Given the description of an element on the screen output the (x, y) to click on. 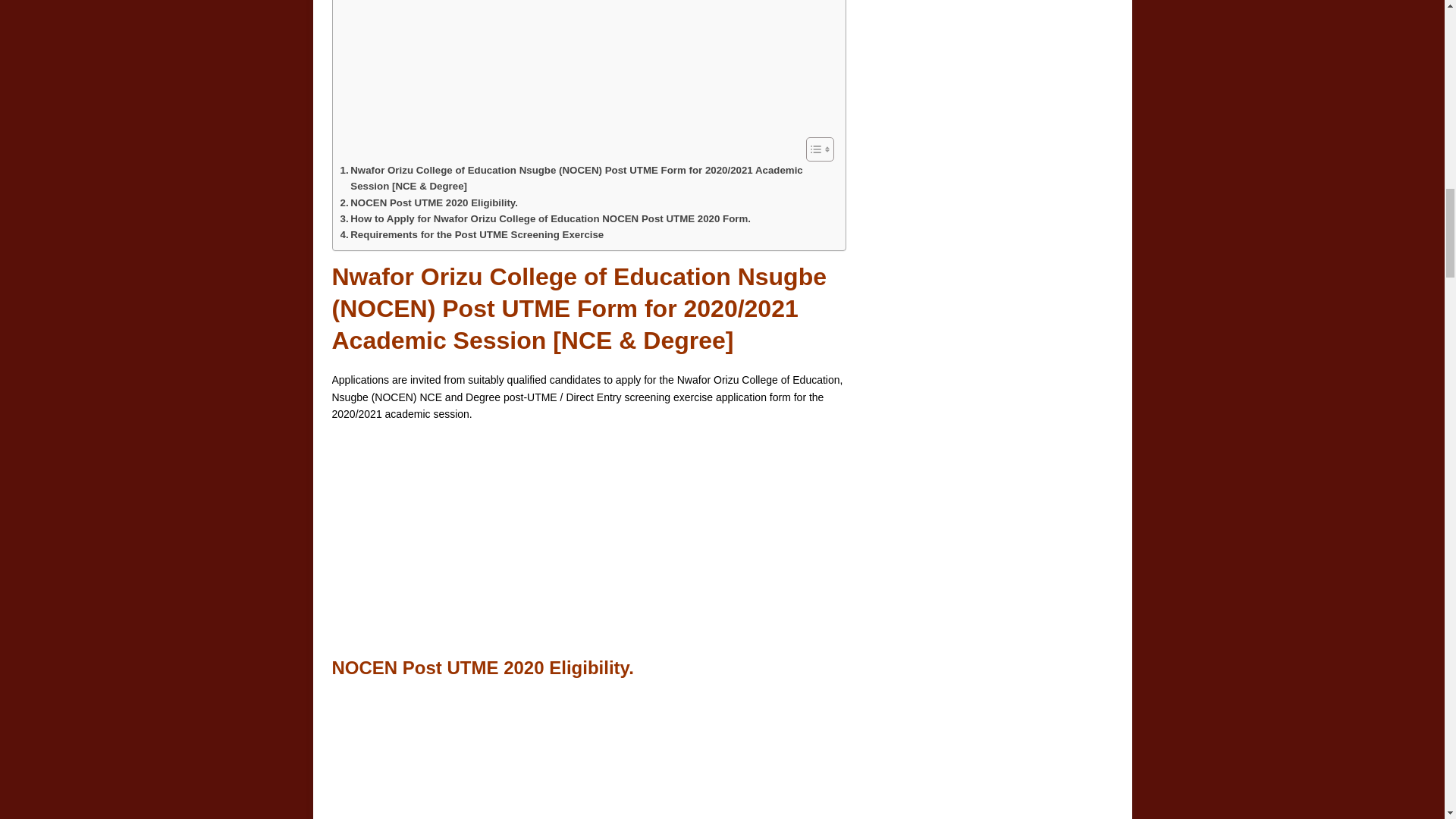
NOCEN Post UTME 2020 Eligibility. (427, 202)
NOCEN Post UTME 2020 Eligibility. (427, 202)
Requirements for the Post UTME Screening Exercise (471, 234)
Requirements for the Post UTME Screening Exercise (471, 234)
